Given the description of an element on the screen output the (x, y) to click on. 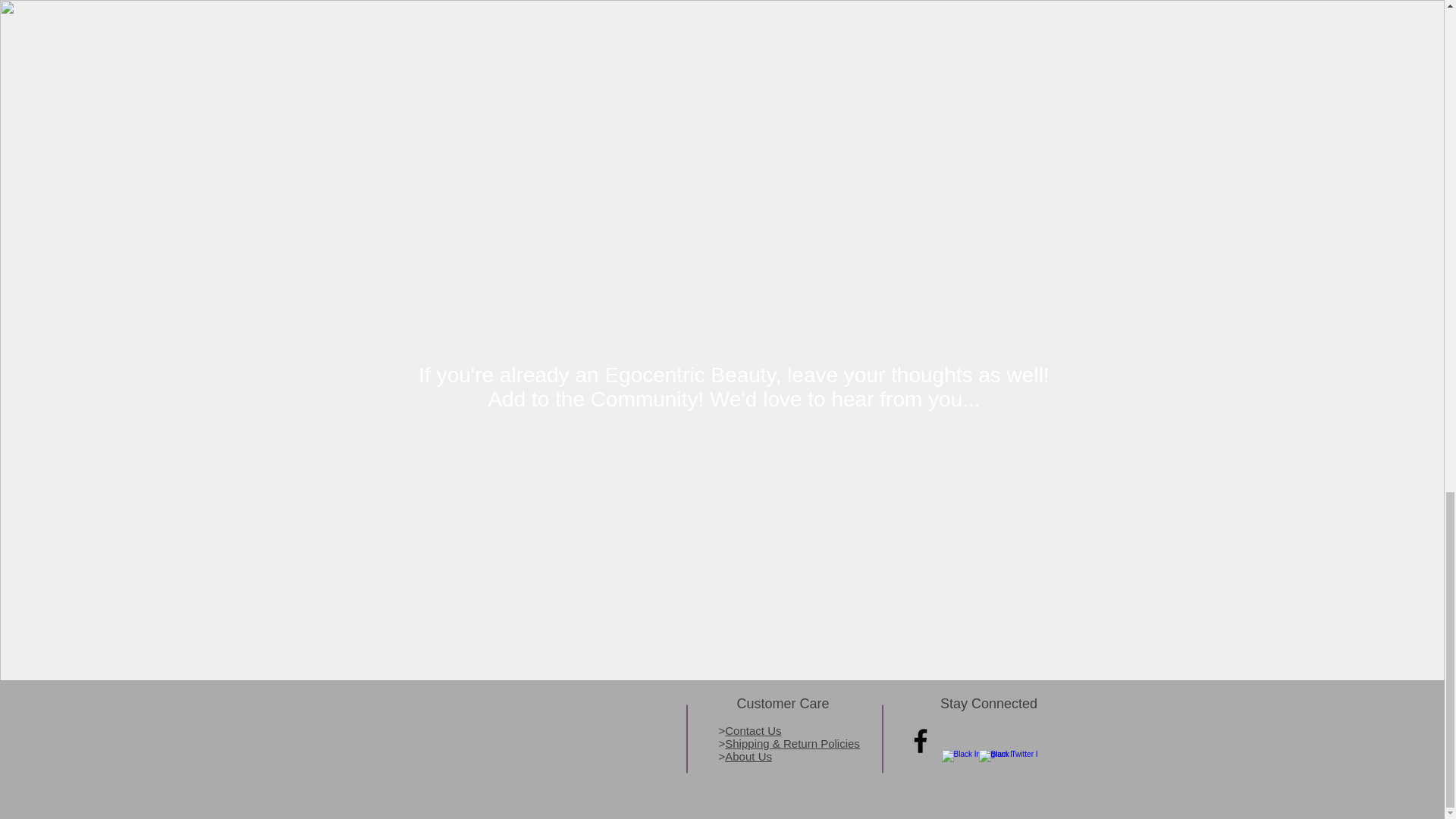
Contact Us (752, 730)
About Us (748, 756)
Facebook Like (1049, 740)
